Given the description of an element on the screen output the (x, y) to click on. 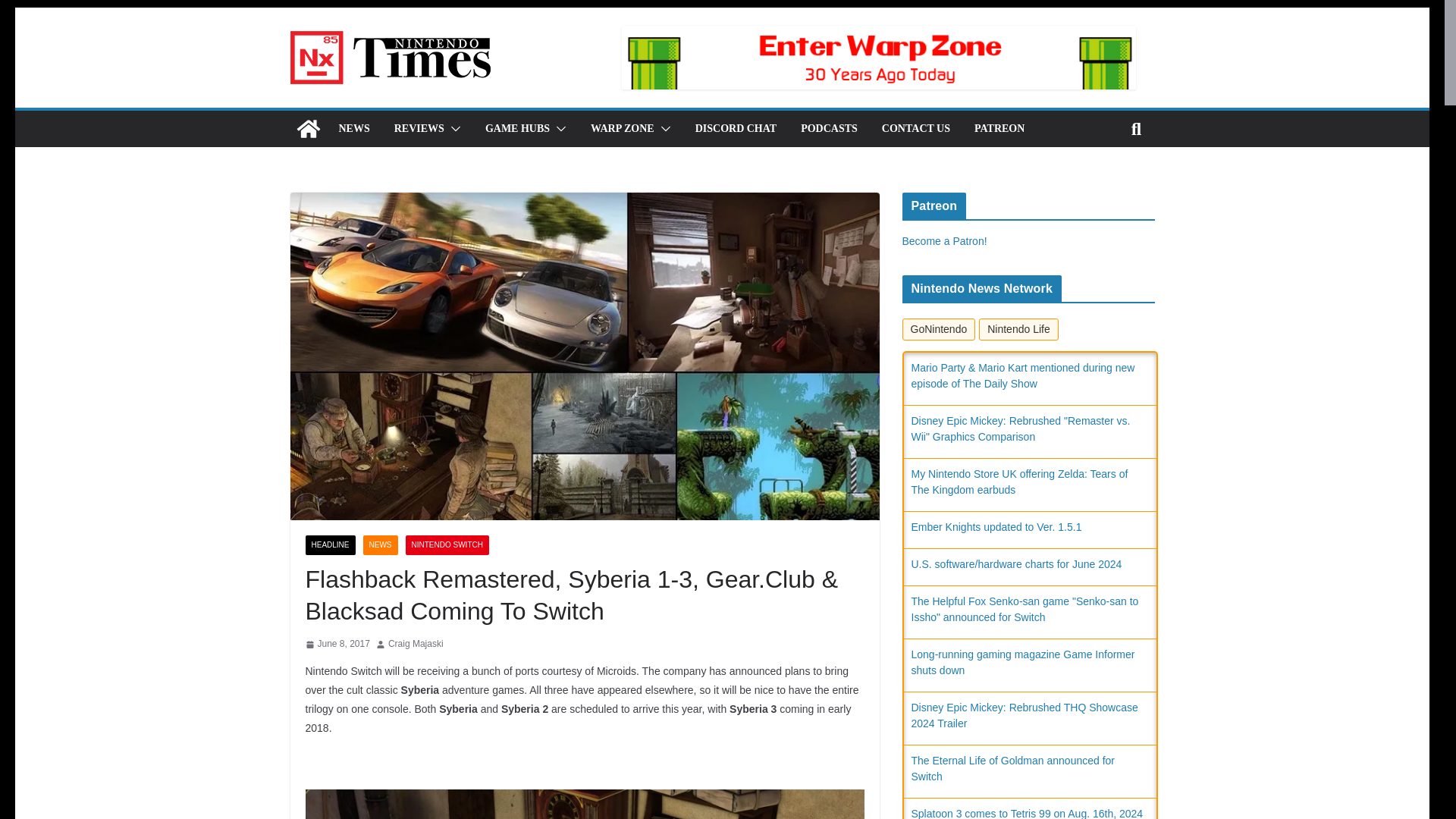
CONTACT US (916, 128)
GAME HUBS (517, 128)
Craig Majaski (416, 644)
June 8, 2017 (336, 644)
NEWS (379, 545)
9:05 PM (336, 644)
PODCASTS (828, 128)
NINTENDO SWITCH (447, 545)
PATREON (999, 128)
DISCORD CHAT (735, 128)
HEADLINE (329, 545)
WARP ZONE (622, 128)
NEWS (353, 128)
Craig Majaski (416, 644)
